Given the description of an element on the screen output the (x, y) to click on. 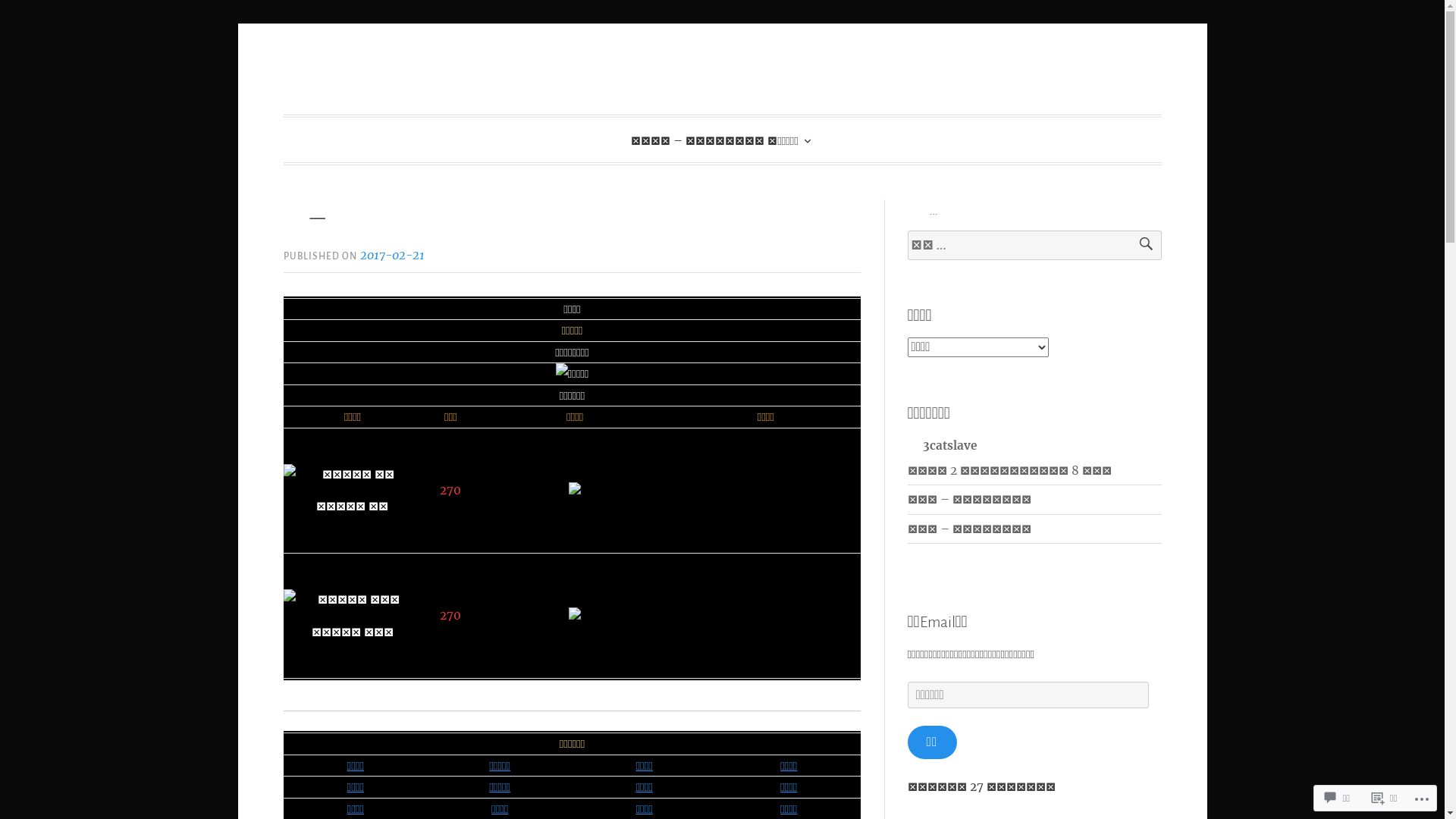
2017-02-21 Element type: text (392, 254)
3catslave Element type: text (941, 444)
